Given the description of an element on the screen output the (x, y) to click on. 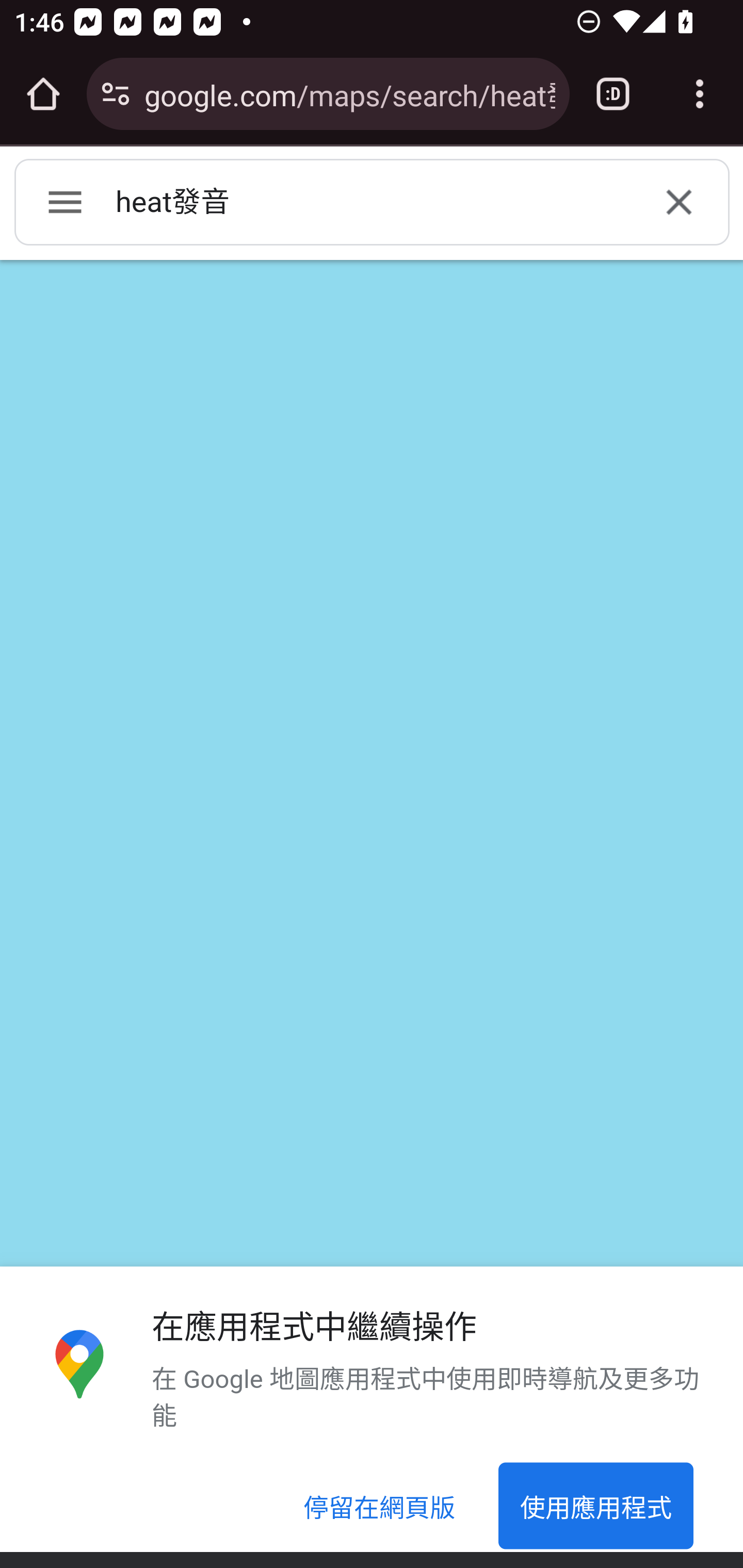
Open the home page (43, 93)
Connection is secure (115, 93)
Switch or close tabs (612, 93)
Customize and control Google Chrome (699, 93)
google.com/maps/search/heat發音/@0,0,22z?source=lnms (349, 92)
停留在網頁版 (379, 1506)
使用應用程式 (595, 1506)
